Given the description of an element on the screen output the (x, y) to click on. 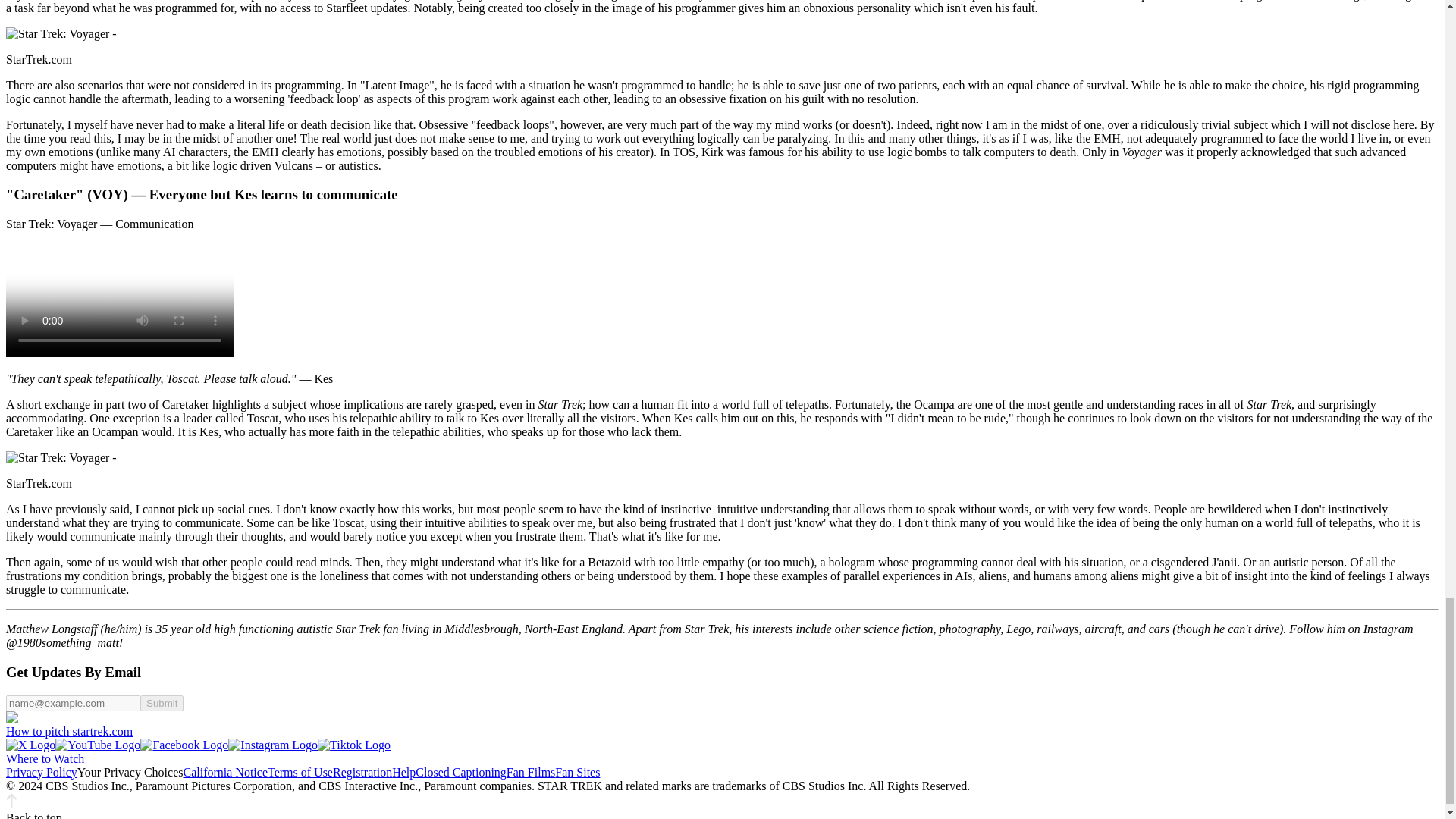
Fan Sites (576, 771)
Submit (161, 702)
California Notice (225, 771)
Help (402, 771)
Your Privacy Choices (130, 771)
Where to Watch (44, 758)
Fan Films (530, 771)
How to pitch startrek.com (68, 730)
Closed Captioning (460, 771)
Terms of Use (300, 771)
